Given the description of an element on the screen output the (x, y) to click on. 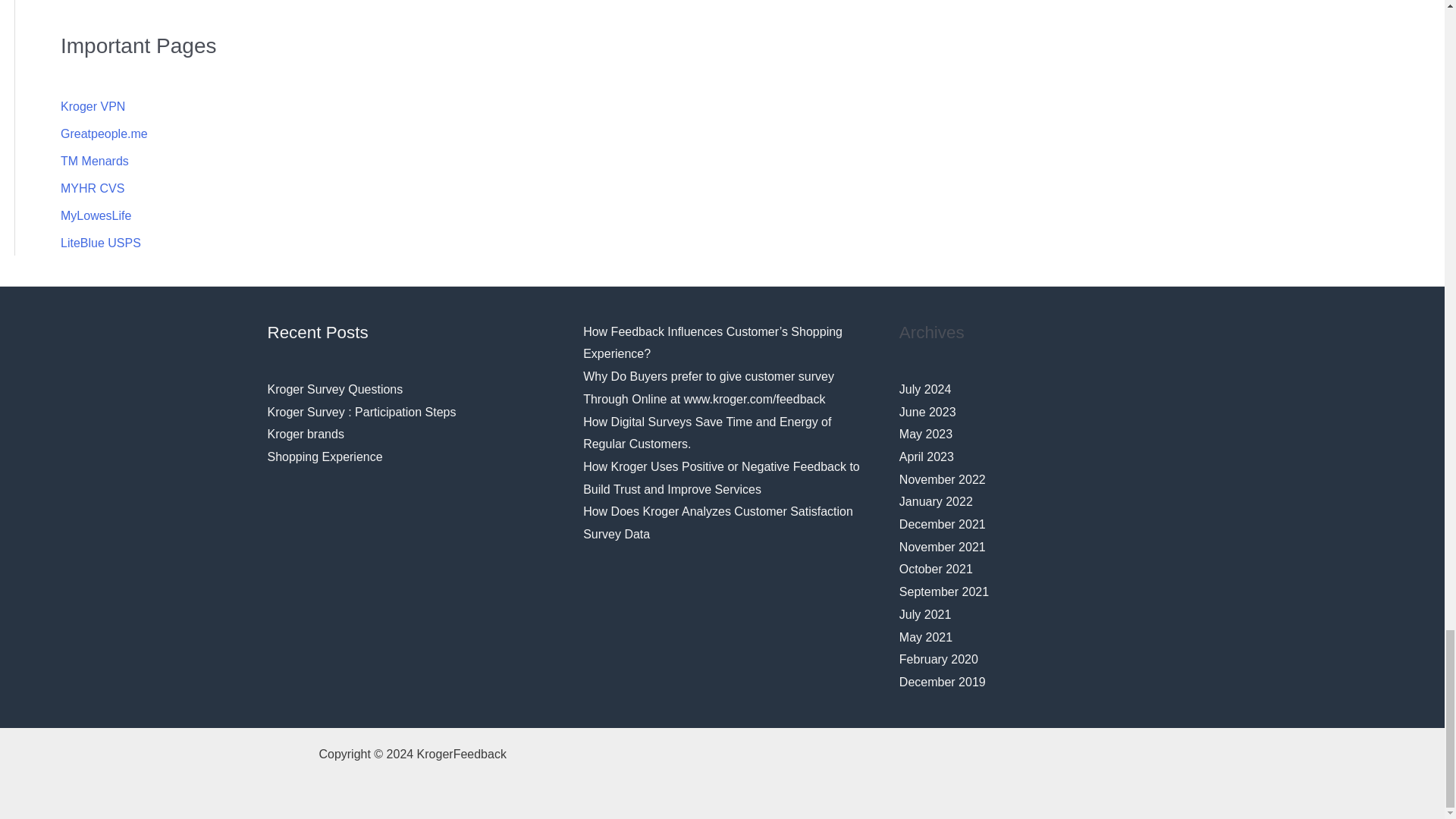
TM Menards (95, 160)
Greatpeople.me (104, 133)
Kroger Survey Questions (334, 389)
Shopping Experience (323, 456)
How Does Kroger Analyzes Customer Satisfaction Survey Data (718, 522)
Kroger Survey : Participation Steps (360, 411)
Kroger brands (304, 433)
MYHR CVS (92, 187)
Kroger VPN (93, 106)
